Given the description of an element on the screen output the (x, y) to click on. 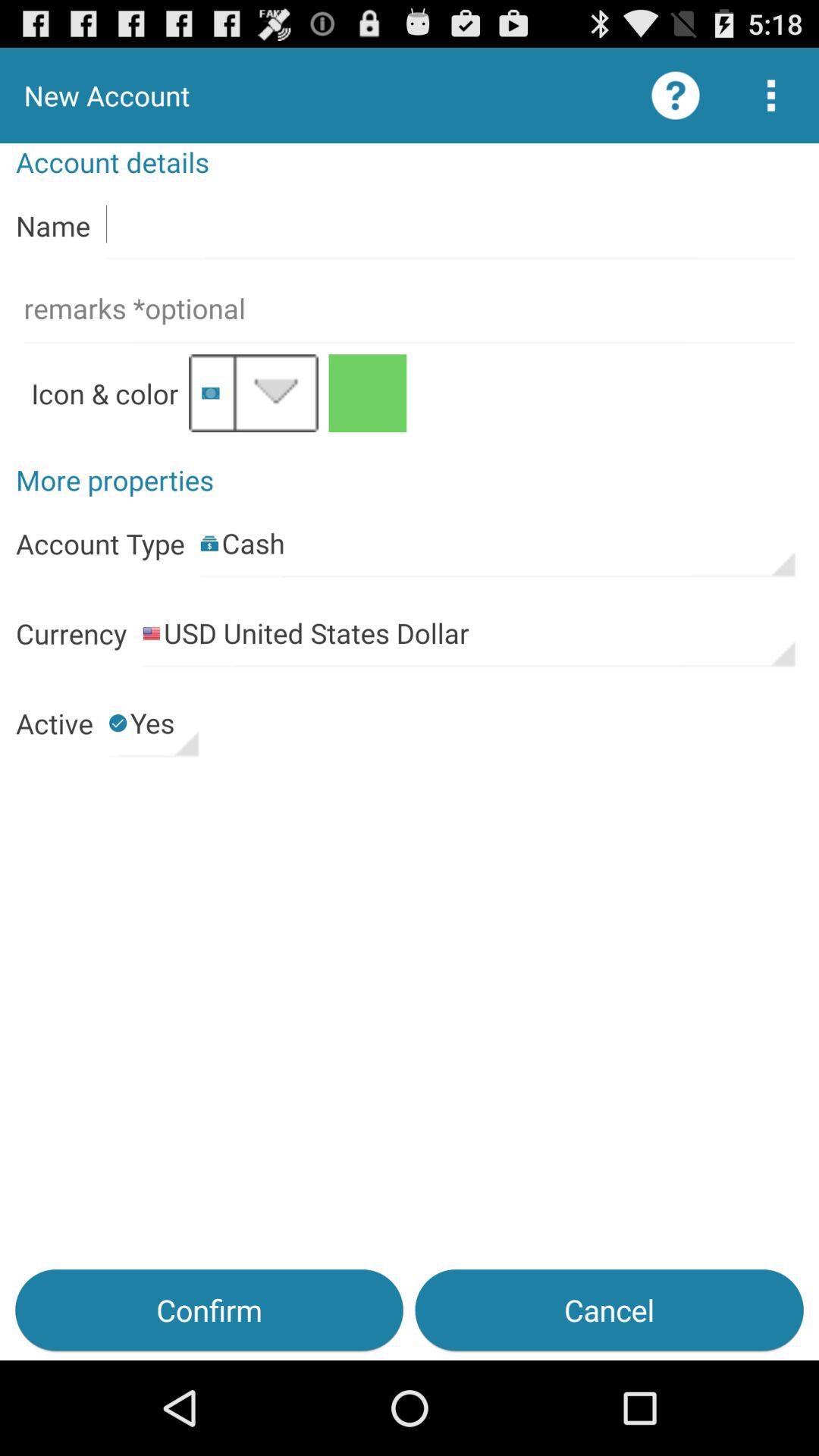
add remars (409, 309)
